Given the description of an element on the screen output the (x, y) to click on. 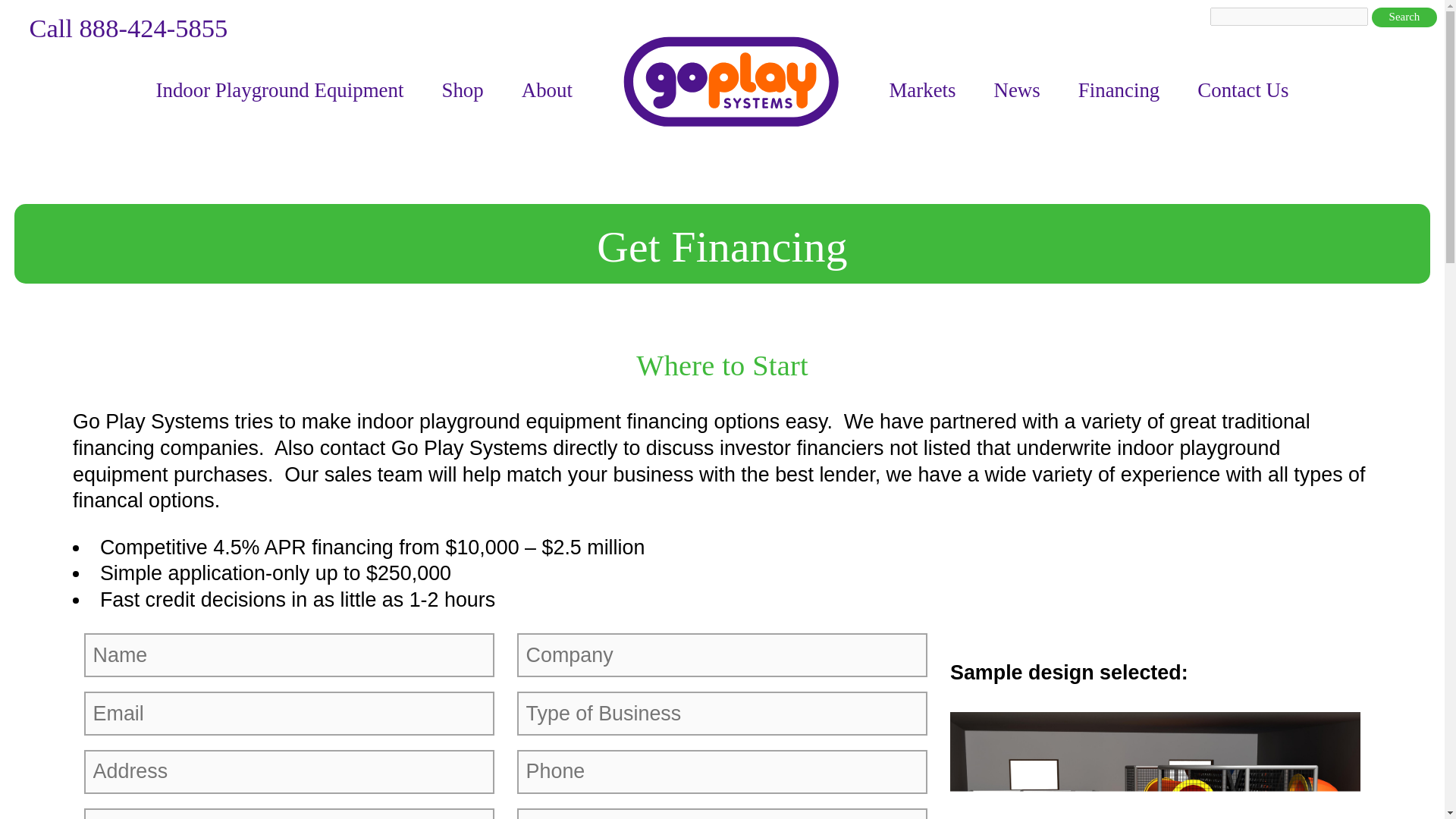
Search (1404, 17)
Search (1404, 17)
Indoor Playground Equipment (279, 89)
